Given the description of an element on the screen output the (x, y) to click on. 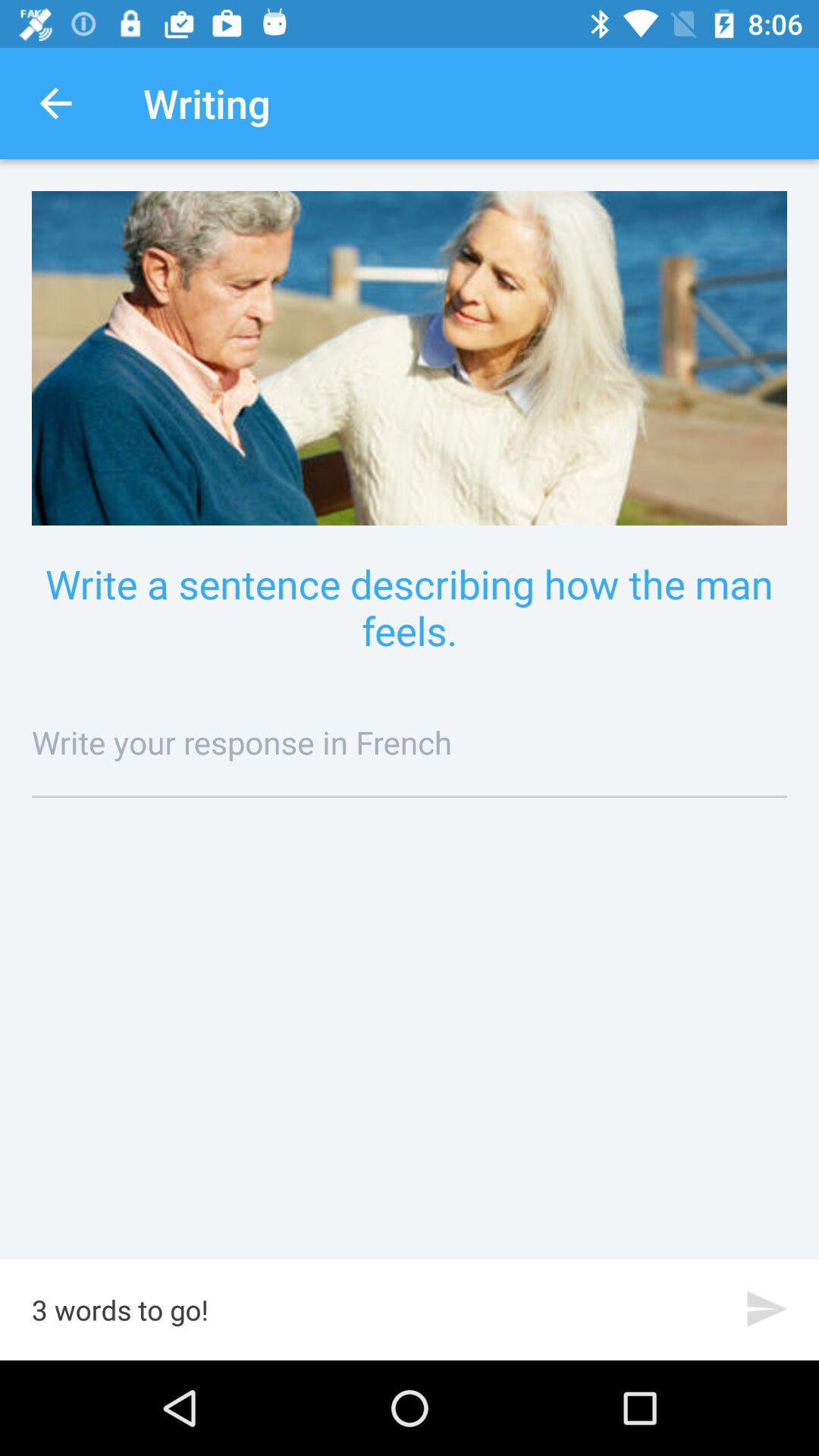
choose the icon to the right of the 3 words to icon (767, 1308)
